Given the description of an element on the screen output the (x, y) to click on. 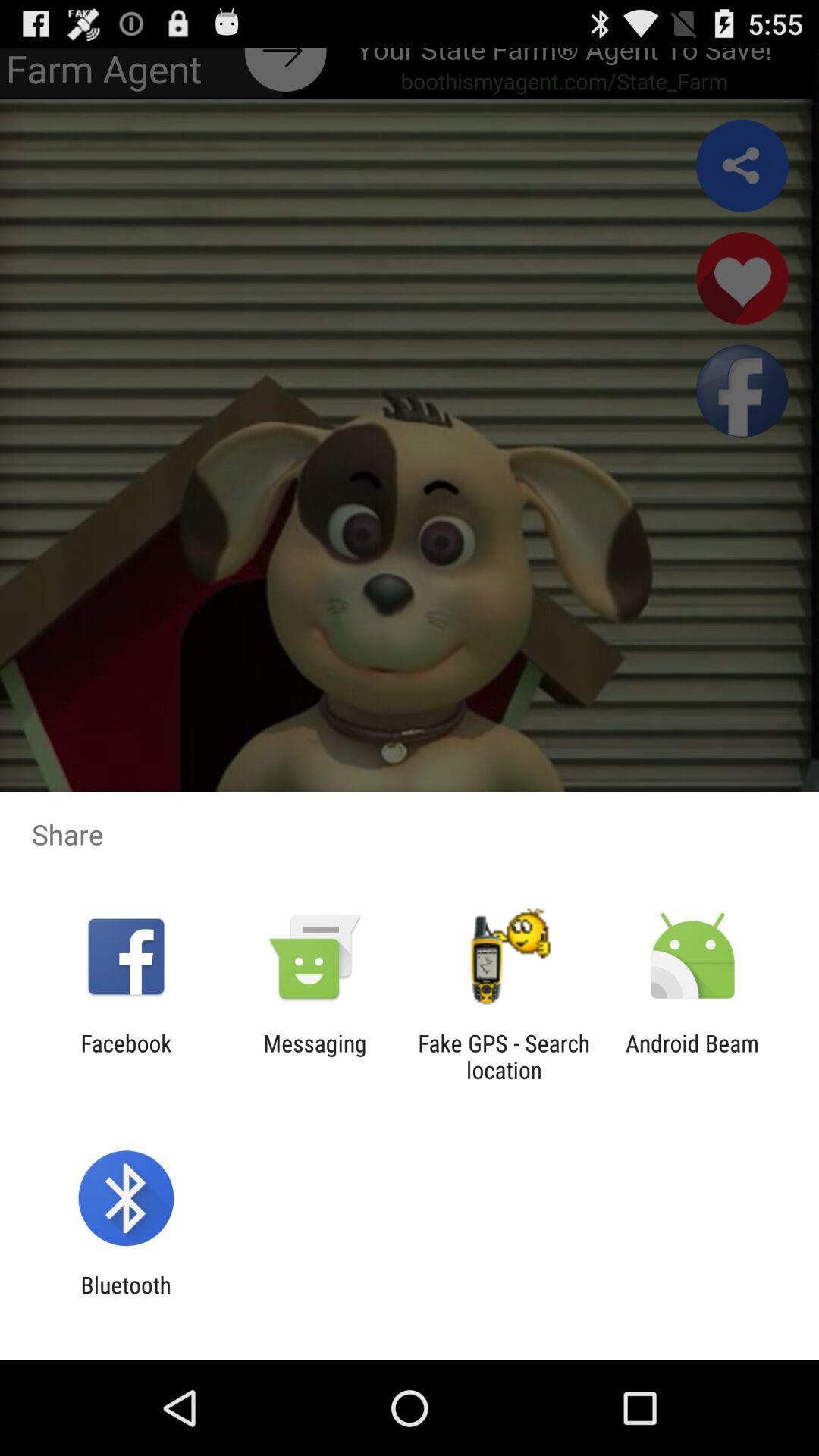
scroll to android beam (692, 1056)
